Given the description of an element on the screen output the (x, y) to click on. 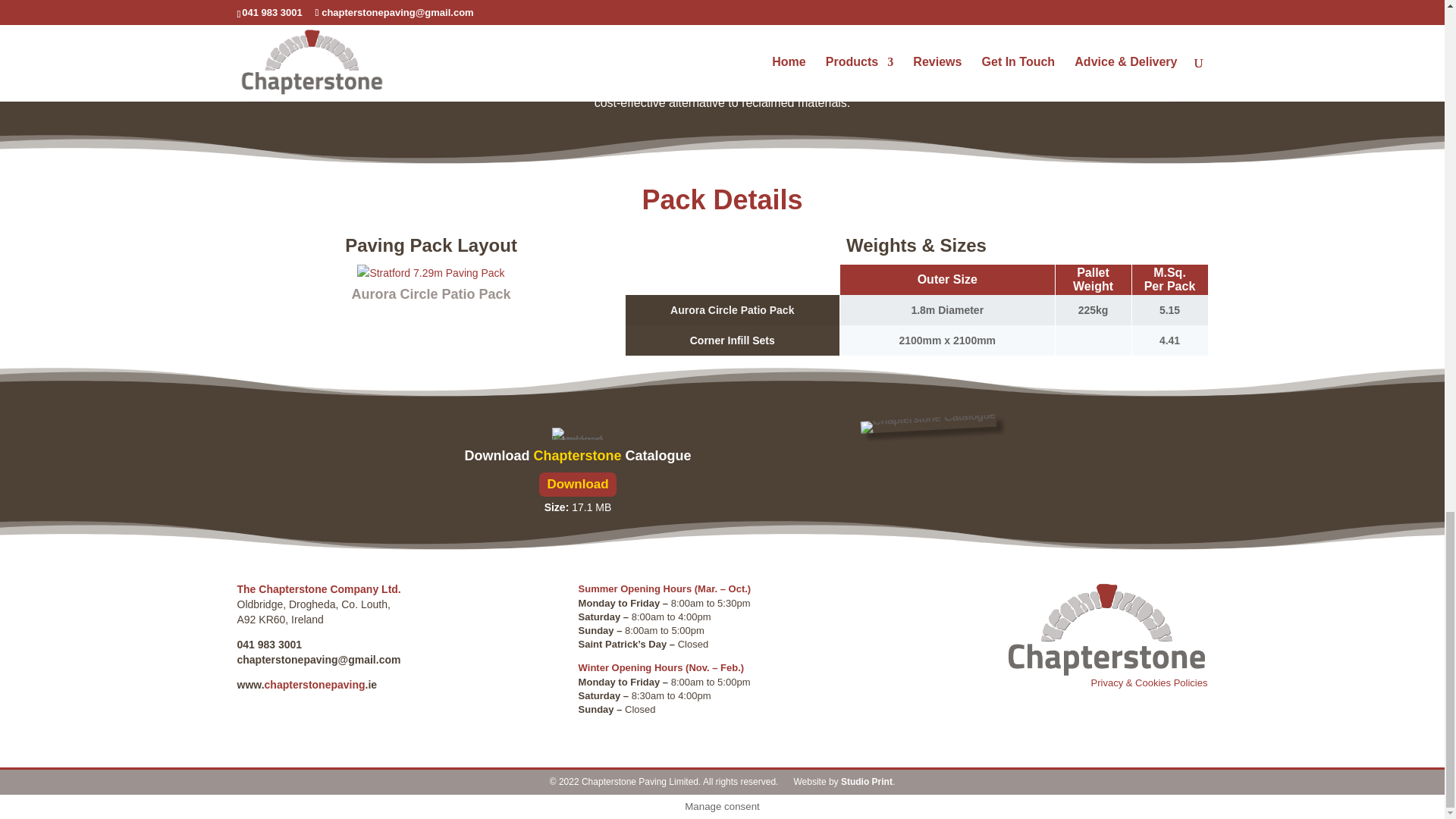
041 983 3001 (268, 644)
Studio Print (866, 781)
Stratford Paving 1 (379, 28)
Chapterstone Catalogue (927, 420)
Download (576, 484)
chapterstonepaving (314, 684)
Download Catalogue Icon (577, 433)
Stratford Paving 2 (1063, 28)
Chapterstone Logo (1107, 629)
